Given the description of an element on the screen output the (x, y) to click on. 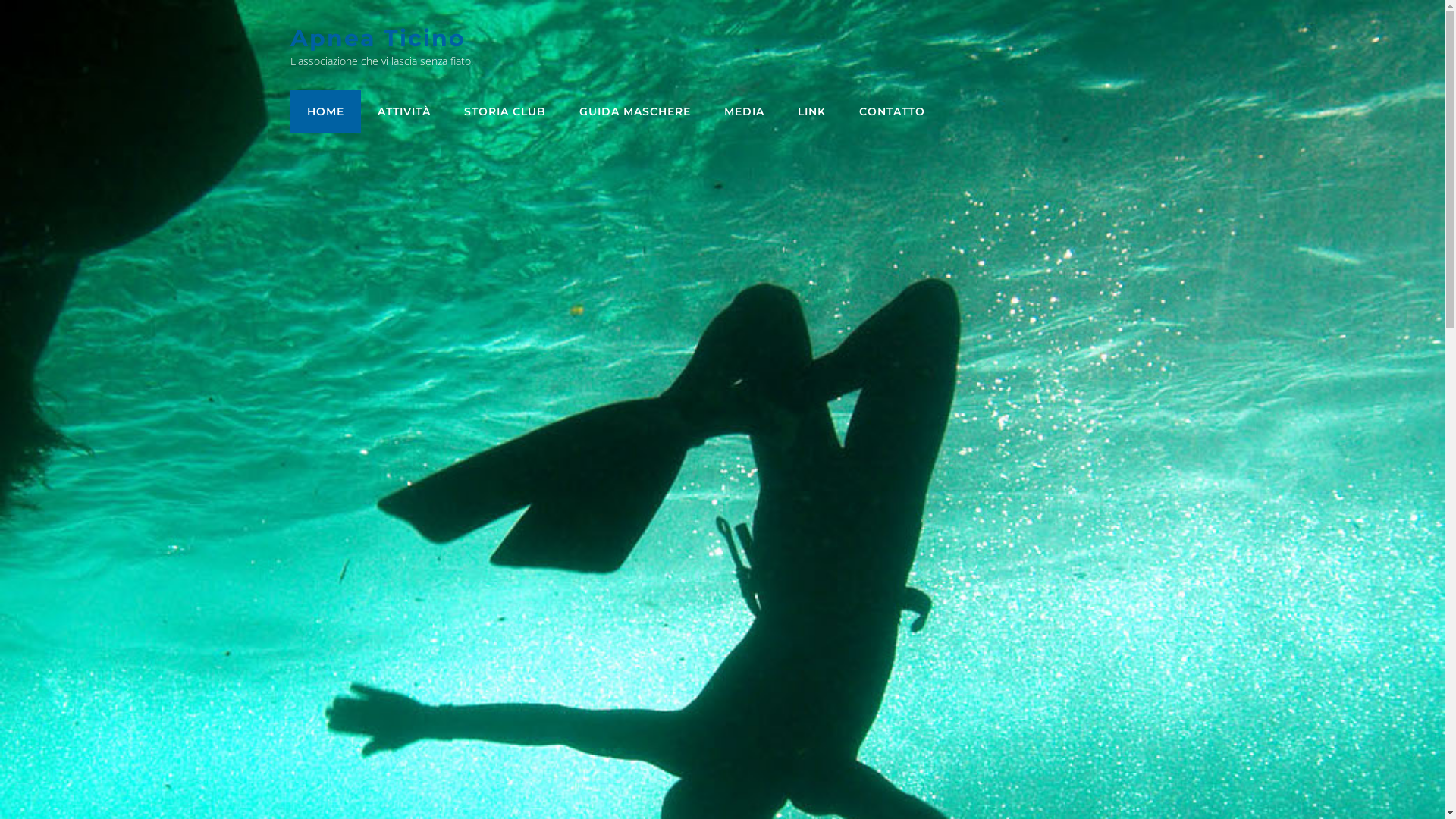
GUIDA MASCHERE Element type: text (634, 111)
HOME Element type: text (324, 111)
LINK Element type: text (811, 111)
STORIA CLUB Element type: text (504, 111)
Apnea Ticino Element type: text (376, 38)
CONTATTO Element type: text (891, 111)
MEDIA Element type: text (743, 111)
